Given the description of an element on the screen output the (x, y) to click on. 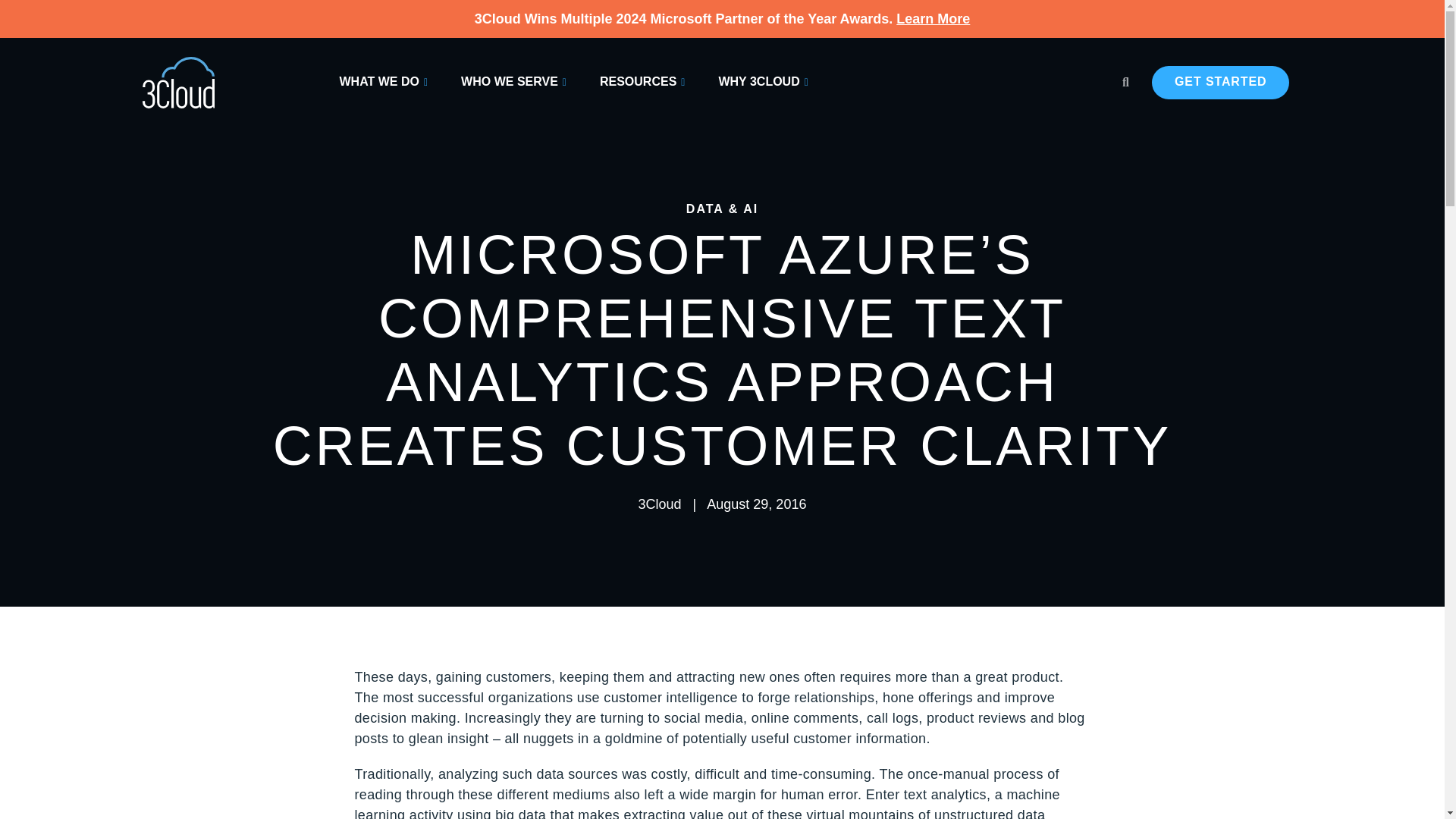
WHO WE SERVE (513, 82)
Learn More (932, 18)
WHAT WE DO (383, 82)
WHY 3CLOUD (762, 82)
RESOURCES (641, 82)
